Given the description of an element on the screen output the (x, y) to click on. 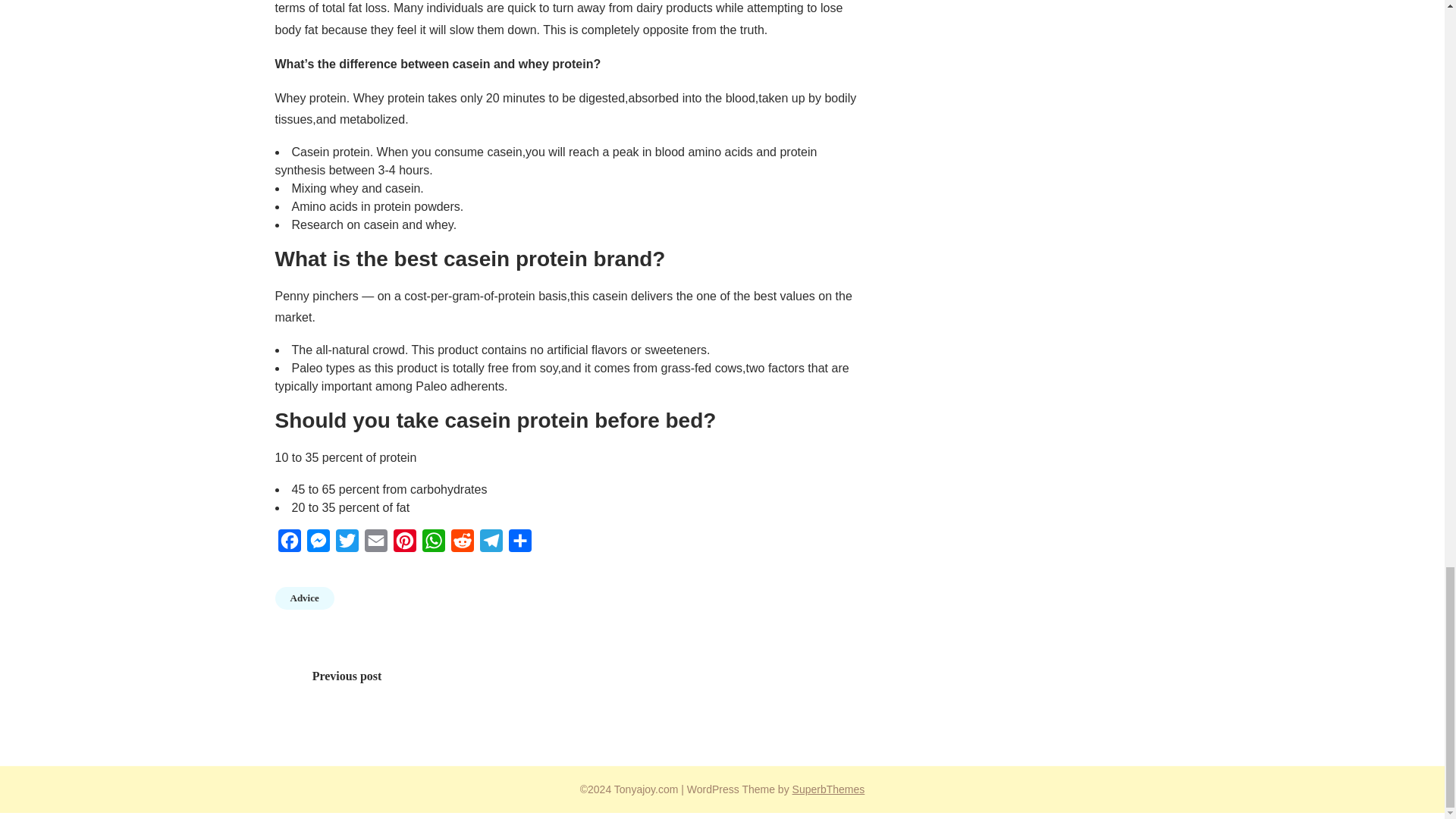
Messenger (316, 544)
Email (375, 544)
Advice (304, 598)
Email (375, 544)
Facebook (288, 544)
Pinterest (404, 544)
Previous post (347, 676)
Telegram (490, 544)
Reddit (461, 544)
WhatsApp (432, 544)
